Given the description of an element on the screen output the (x, y) to click on. 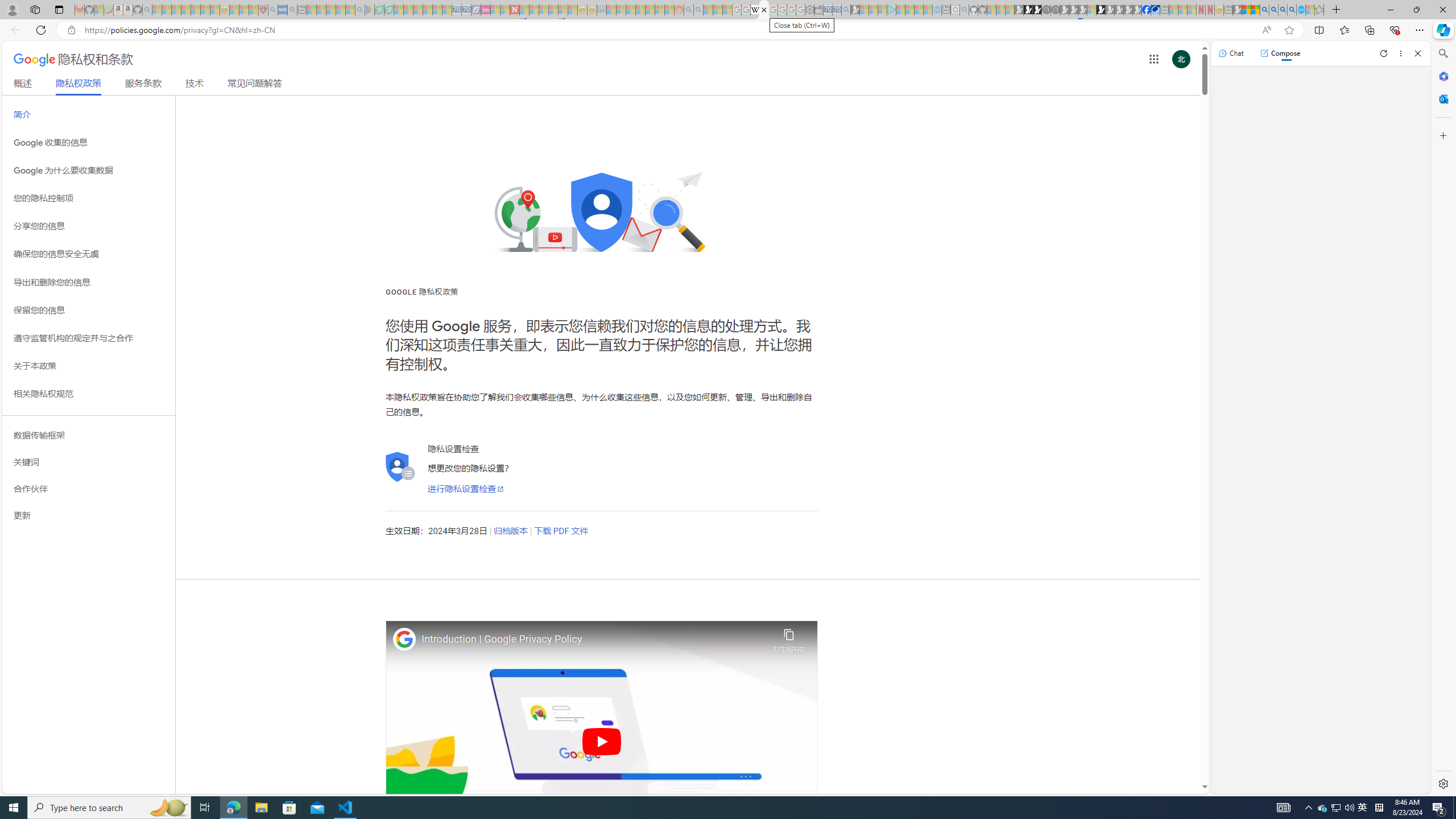
Pets - MSN - Sleeping (340, 9)
Chat (1230, 52)
google - Search - Sleeping (359, 9)
Play Zoo Boom in your browser | Games from Microsoft Start (1027, 9)
